Given the description of an element on the screen output the (x, y) to click on. 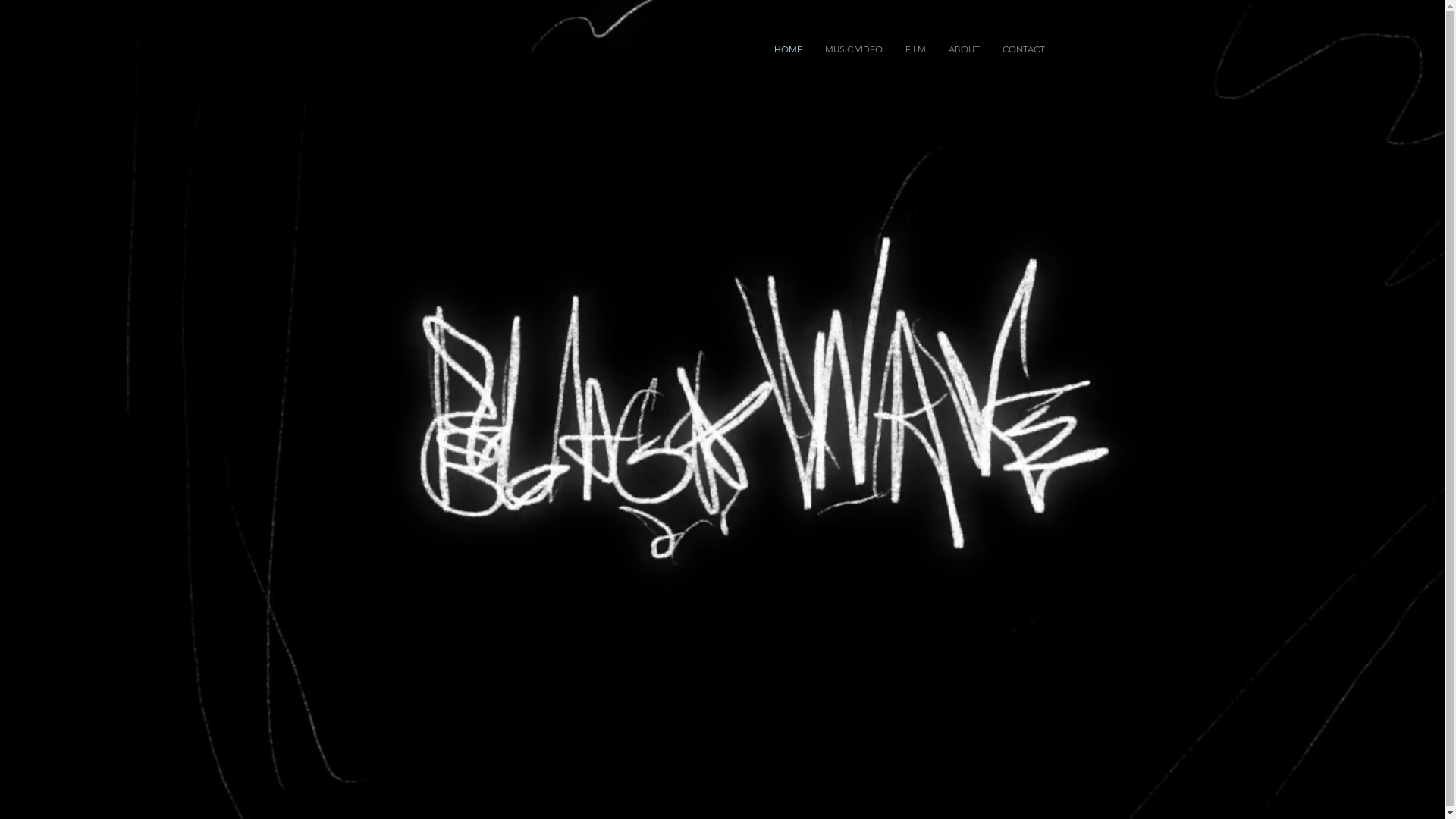
MUSIC VIDEO Element type: text (852, 49)
FILM Element type: text (914, 49)
CONTACT Element type: text (1022, 49)
HOME Element type: text (787, 49)
ABOUT Element type: text (964, 49)
